Given the description of an element on the screen output the (x, y) to click on. 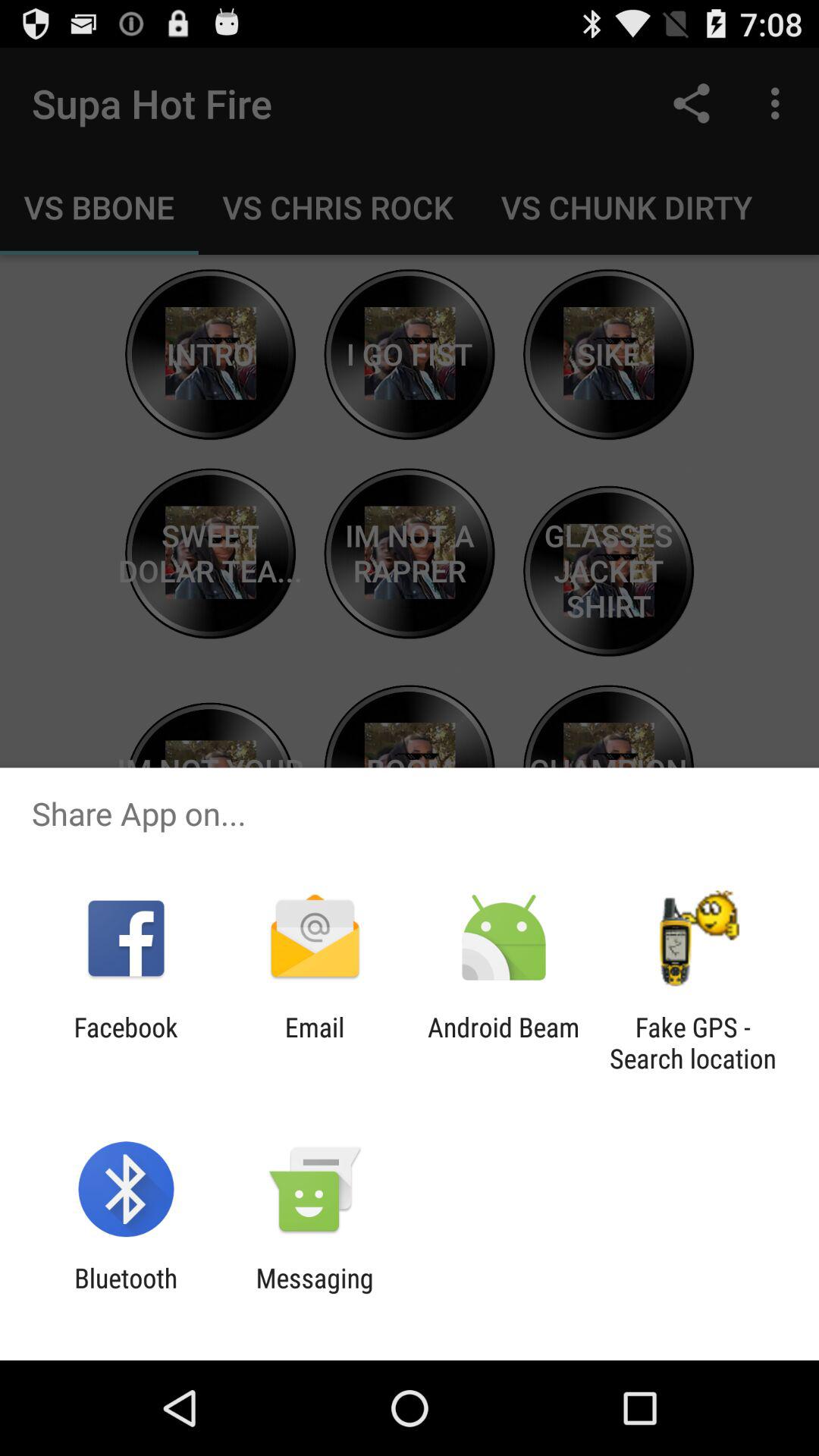
launch fake gps search item (692, 1042)
